Given the description of an element on the screen output the (x, y) to click on. 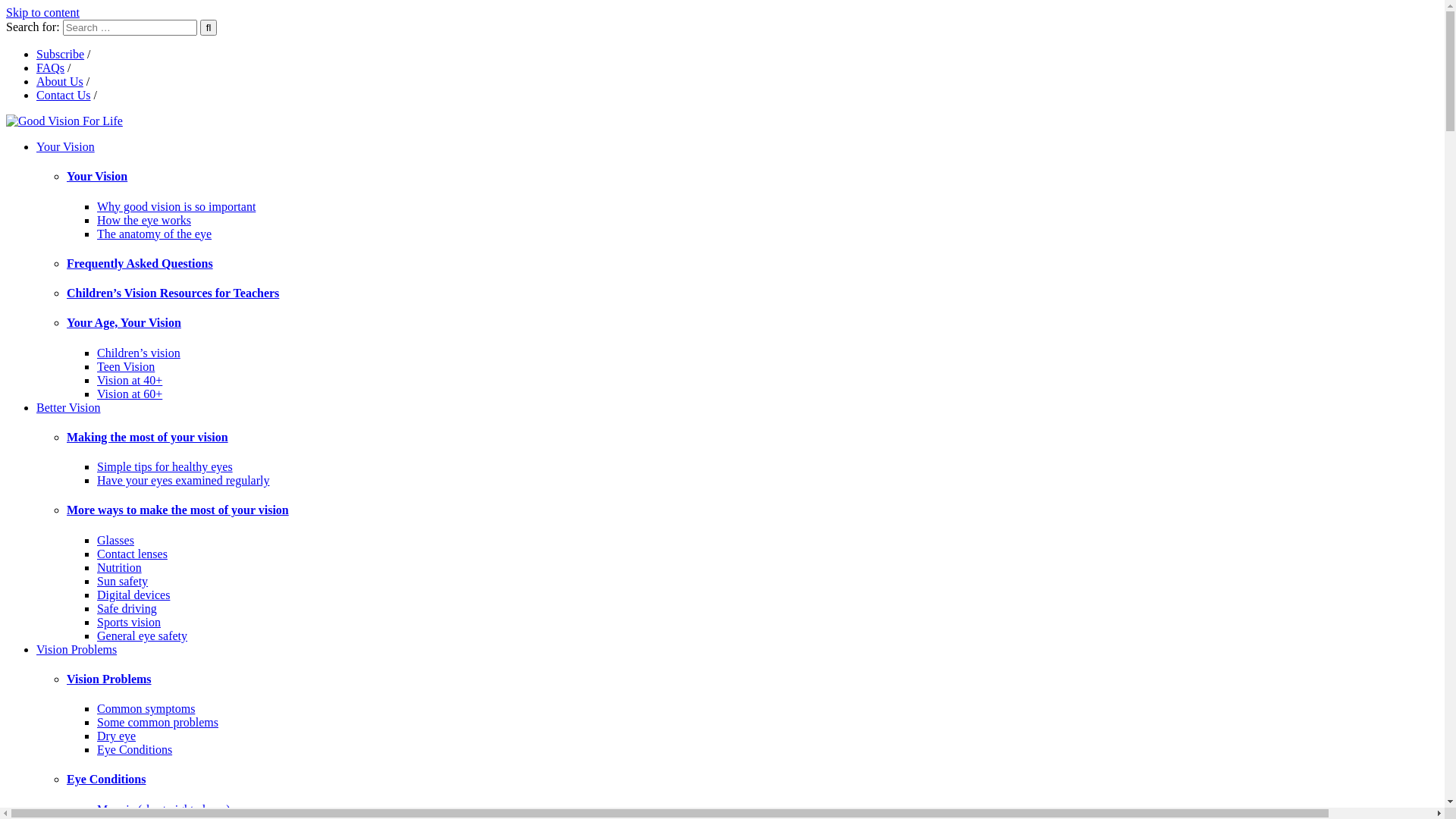
Search for: Element type: hover (129, 27)
Better Vision Element type: text (68, 407)
Digital devices Element type: text (133, 594)
Sun safety Element type: text (122, 580)
Your Vision Element type: text (65, 146)
Some common problems Element type: text (157, 721)
Vision at 60+ Element type: text (129, 393)
FAQs Element type: text (50, 67)
Teen Vision Element type: text (125, 366)
General eye safety Element type: text (142, 635)
Your Vision Element type: text (752, 176)
Simple tips for healthy eyes Element type: text (164, 466)
Your Age, Your Vision Element type: text (752, 322)
Eye Conditions Element type: text (752, 779)
Safe driving Element type: text (126, 608)
The anatomy of the eye Element type: text (154, 233)
More ways to make the most of your vision Element type: text (752, 510)
Contact Us Element type: text (63, 94)
Good Vision For Life Element type: hover (64, 120)
Making the most of your vision Element type: text (752, 437)
Vision Problems Element type: text (76, 649)
Sports vision Element type: text (128, 621)
Glasses Element type: text (115, 539)
How the eye works Element type: text (144, 219)
About Us Element type: text (59, 81)
Dry eye Element type: text (116, 735)
Nutrition Element type: text (119, 567)
Myopia (short-sightedness) Element type: text (163, 809)
Skip to content Element type: text (42, 12)
Why good vision is so important Element type: text (176, 206)
Vision Problems Element type: text (752, 679)
Frequently Asked Questions Element type: text (752, 263)
Eye Conditions Element type: text (134, 749)
Vision at 40+ Element type: text (129, 379)
Subscribe Element type: text (60, 53)
Contact lenses Element type: text (132, 553)
Common symptoms Element type: text (145, 708)
Have your eyes examined regularly Element type: text (183, 479)
